Given the description of an element on the screen output the (x, y) to click on. 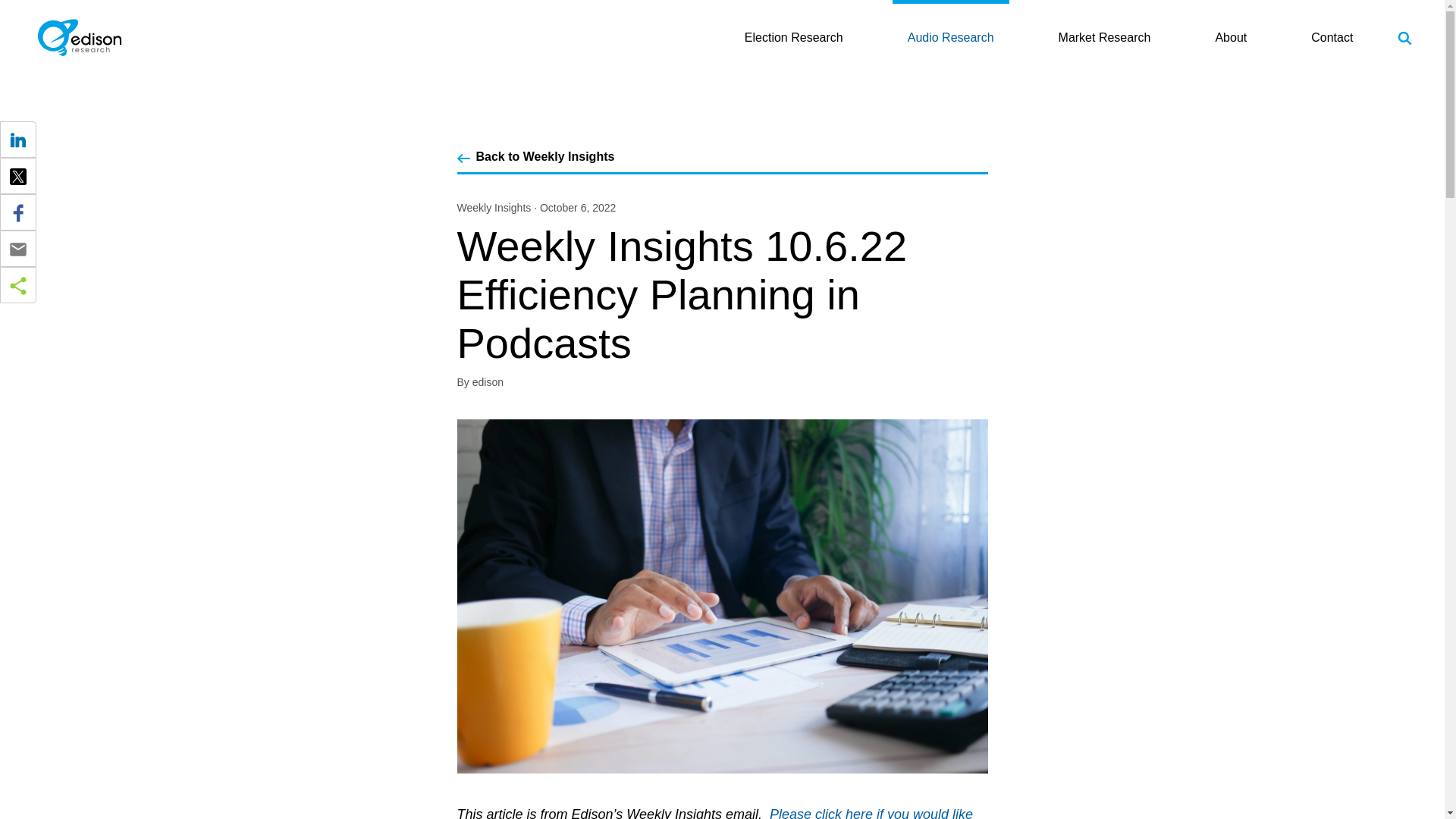
Election Research (794, 0)
Back to Weekly Insights (545, 155)
Audio Research (950, 12)
Contact (1331, 38)
Please click here if you would like to subscribe. (714, 812)
Market Research (1104, 38)
